Given the description of an element on the screen output the (x, y) to click on. 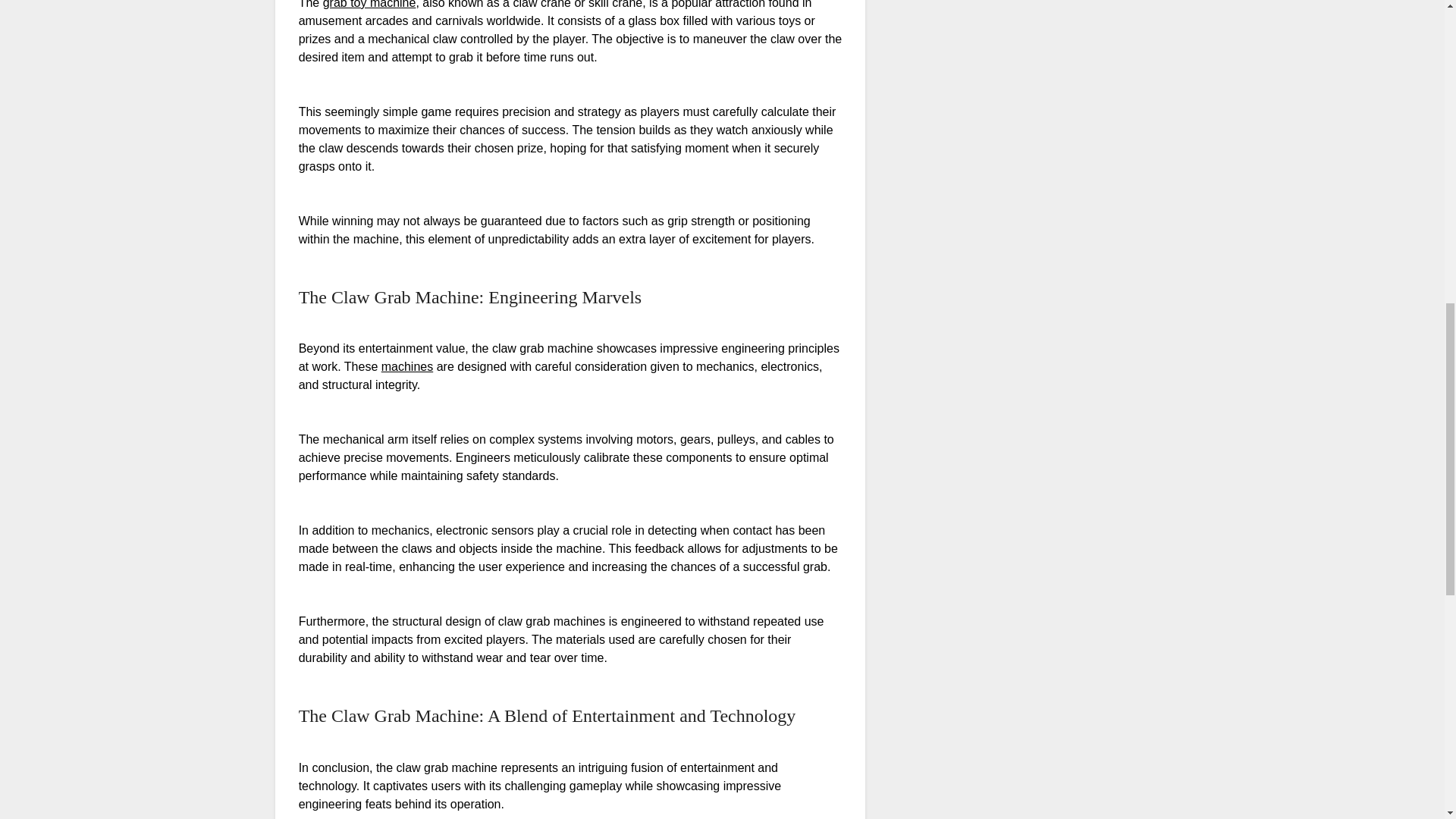
machines (406, 366)
grab toy machine (369, 4)
